Given the description of an element on the screen output the (x, y) to click on. 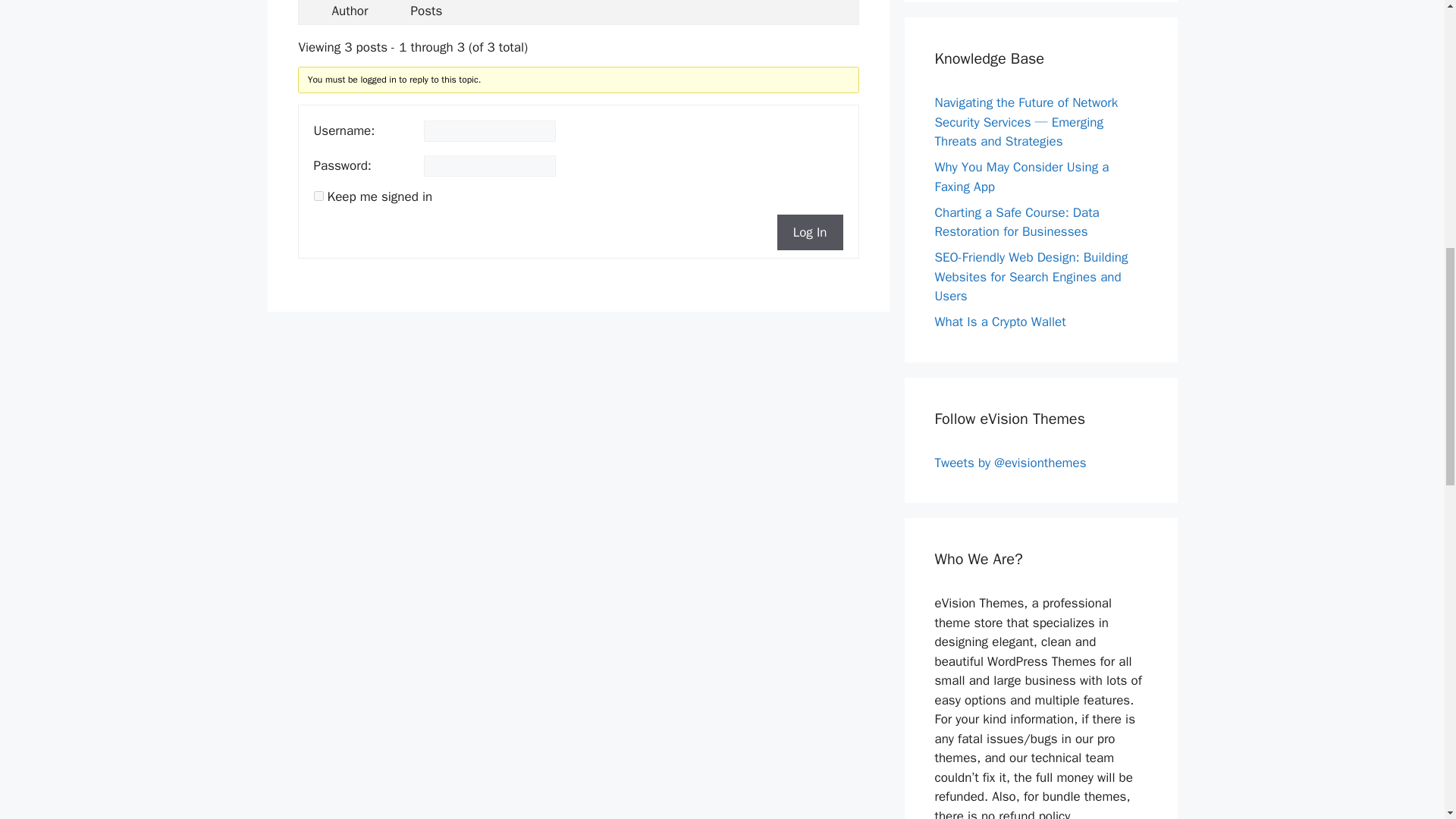
forever (318, 195)
